Given the description of an element on the screen output the (x, y) to click on. 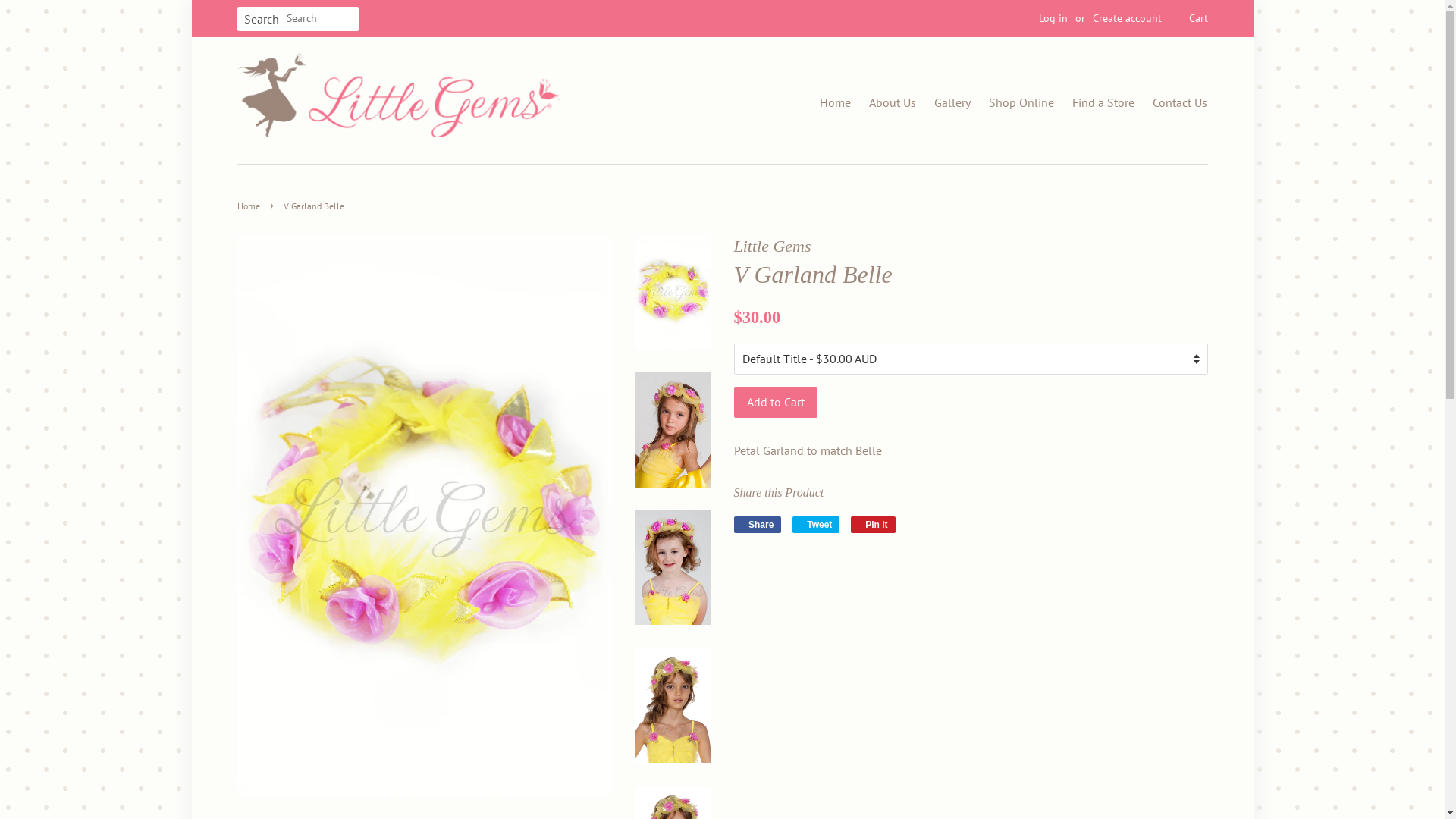
Cart Element type: text (1198, 18)
Find a Store Element type: text (1095, 100)
Log in Element type: text (1052, 18)
Contact Us Element type: text (1172, 100)
Shop Online Element type: text (1013, 100)
Tweet
Tweet on Twitter Element type: text (816, 524)
Home Element type: text (249, 205)
Share
Share on Facebook Element type: text (757, 524)
Gallery Element type: text (944, 100)
Add to Cart Element type: text (775, 401)
Home Element type: text (834, 100)
Create account Element type: text (1126, 18)
Search Element type: text (260, 18)
Pin it
Pin on Pinterest Element type: text (872, 524)
About Us Element type: text (884, 100)
